Given the description of an element on the screen output the (x, y) to click on. 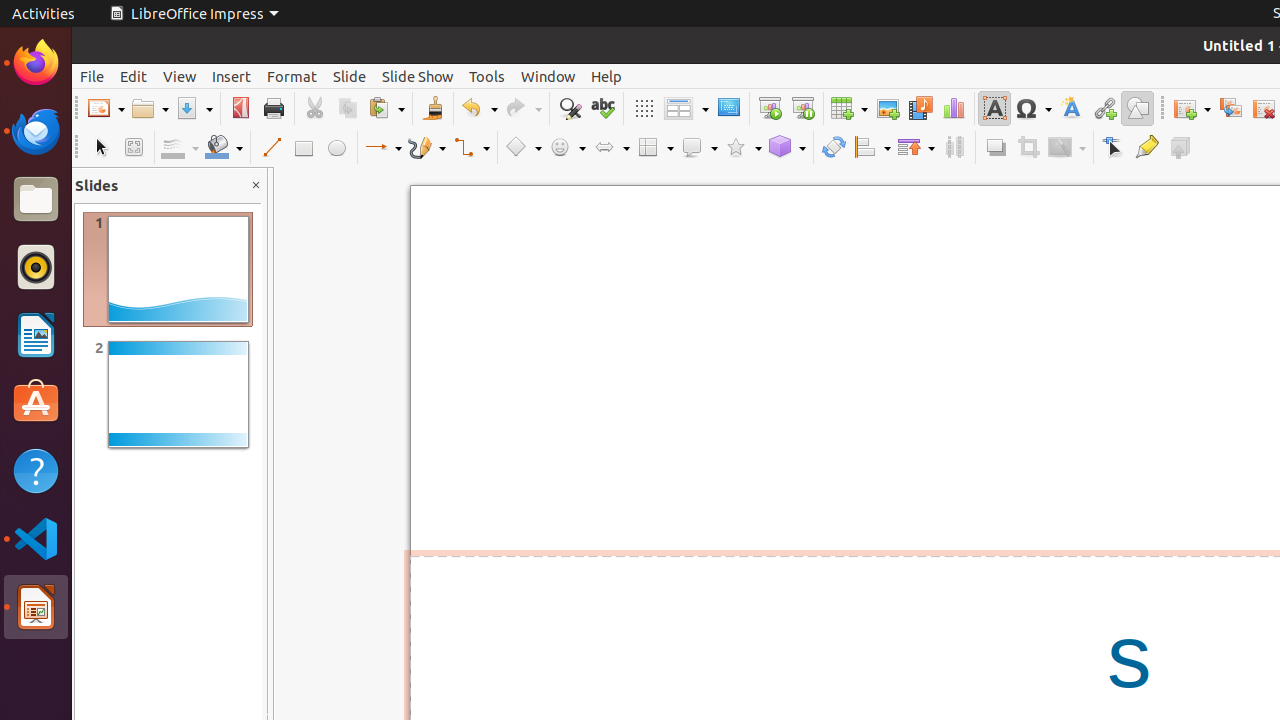
Undo Element type: push-button (479, 108)
Align Element type: push-button (872, 147)
File Element type: menu (92, 76)
Thunderbird Mail Element type: push-button (36, 131)
